Given the description of an element on the screen output the (x, y) to click on. 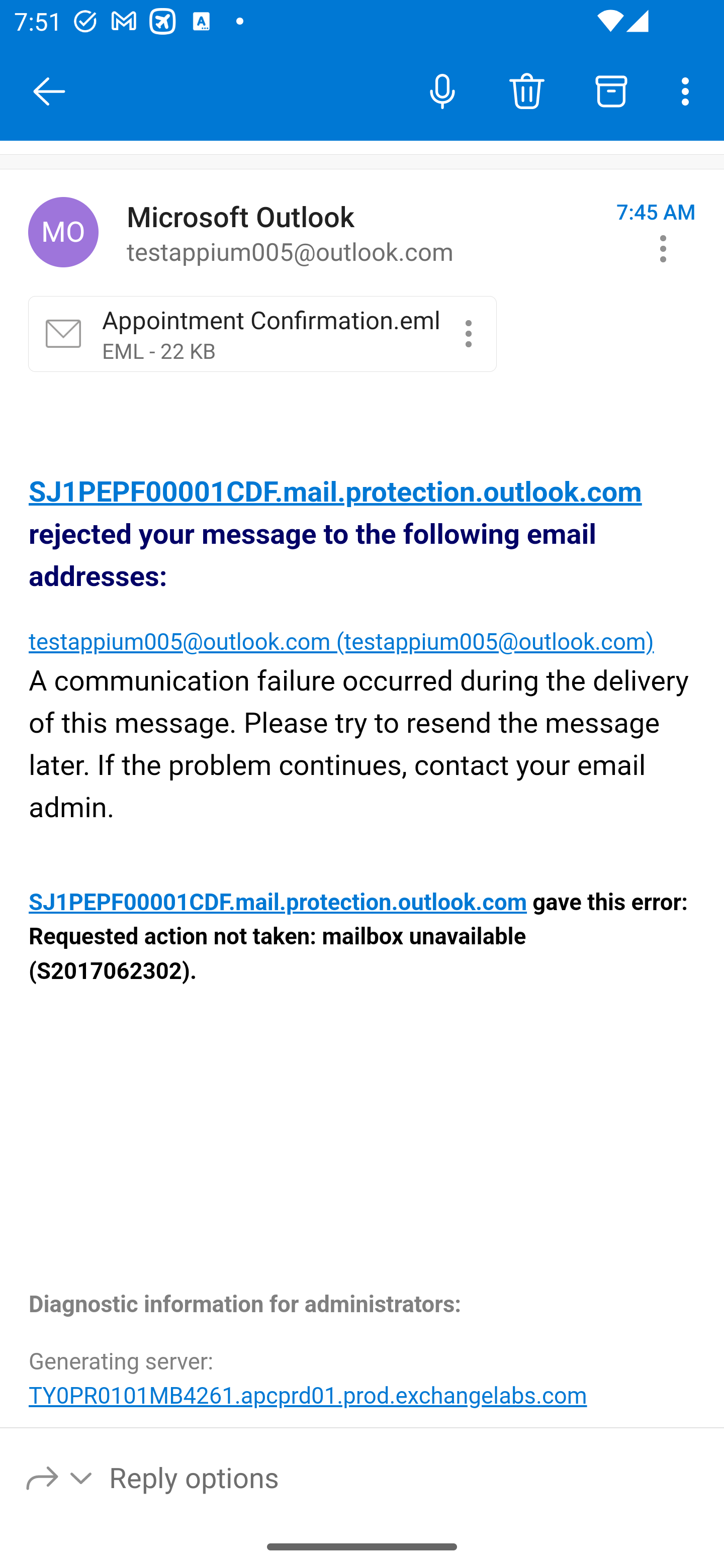
Close (49, 91)
Delete (526, 90)
Archive (611, 90)
More options (688, 90)
Microsoft Outlook
to testappium005@outlook.com (364, 232)
Message actions (663, 248)
Appointment Confirmation.eml (468, 333)
SJ1PEPF00001CDF.mail.protection.outlook.com (335, 492)
SJ1PEPF00001CDF.mail.protection.outlook.com (278, 903)
TY0PR0101MB4261.apcprd01.prod.exchangelabs.com (307, 1395)
Reply options (59, 1476)
